Given the description of an element on the screen output the (x, y) to click on. 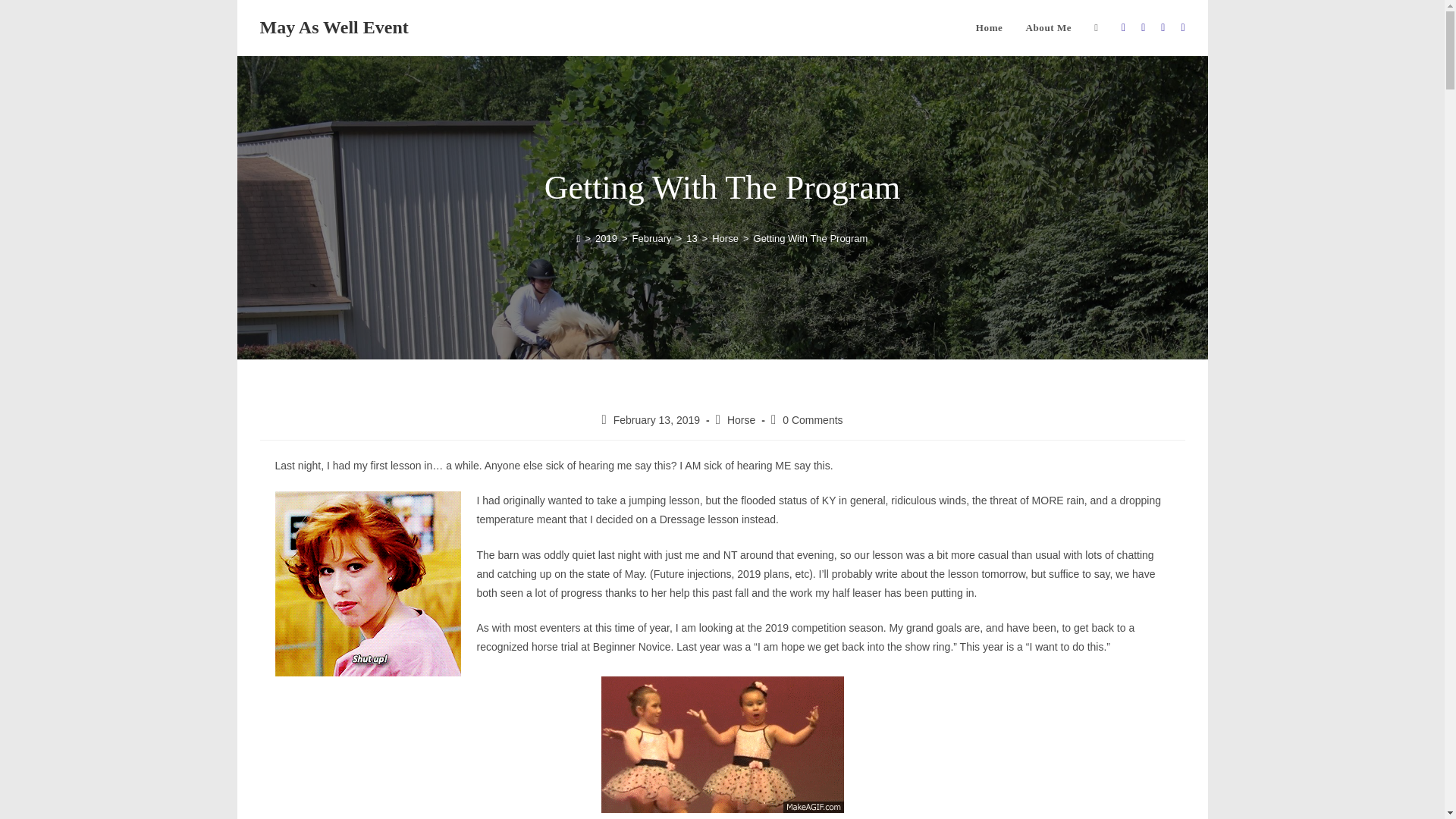
0 Comments (813, 419)
Getting With The Program (810, 238)
Horse (740, 419)
About Me (1048, 28)
13 (691, 238)
2019 (606, 238)
Home (988, 28)
February (651, 238)
May As Well Event (333, 26)
Horse (724, 238)
